Given the description of an element on the screen output the (x, y) to click on. 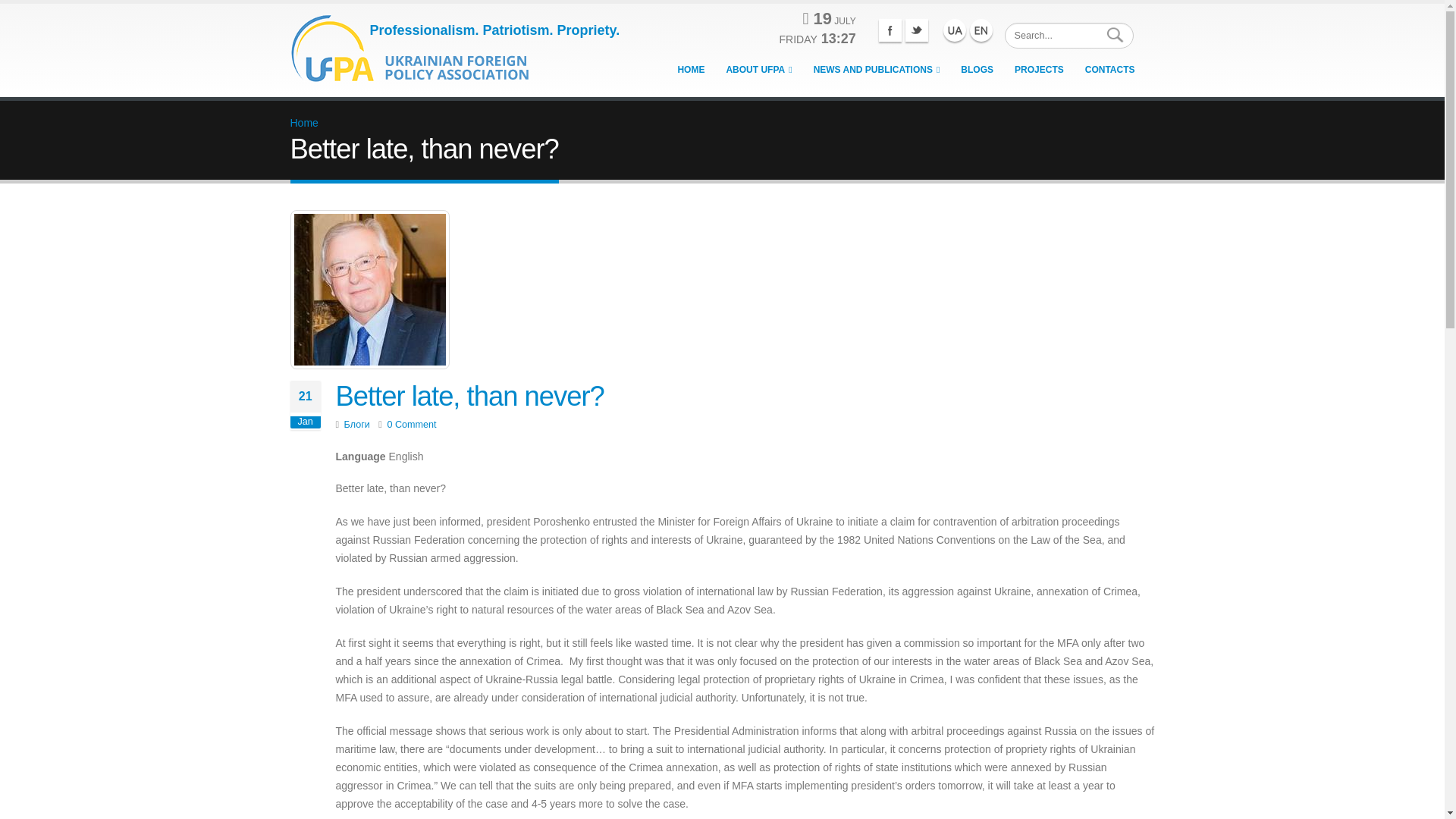
Blogs (976, 69)
Better late, than never? (469, 395)
Apply (1115, 35)
NEWS AND PUBLICATIONS (876, 69)
Facebook (890, 29)
Home (303, 122)
ABOUT UFPA (759, 69)
UA (954, 29)
CONTACTS (1109, 69)
Home (414, 44)
PROJECTS (1039, 69)
HOME (690, 69)
EN (980, 29)
Apply (1115, 35)
0 Comment (411, 424)
